Given the description of an element on the screen output the (x, y) to click on. 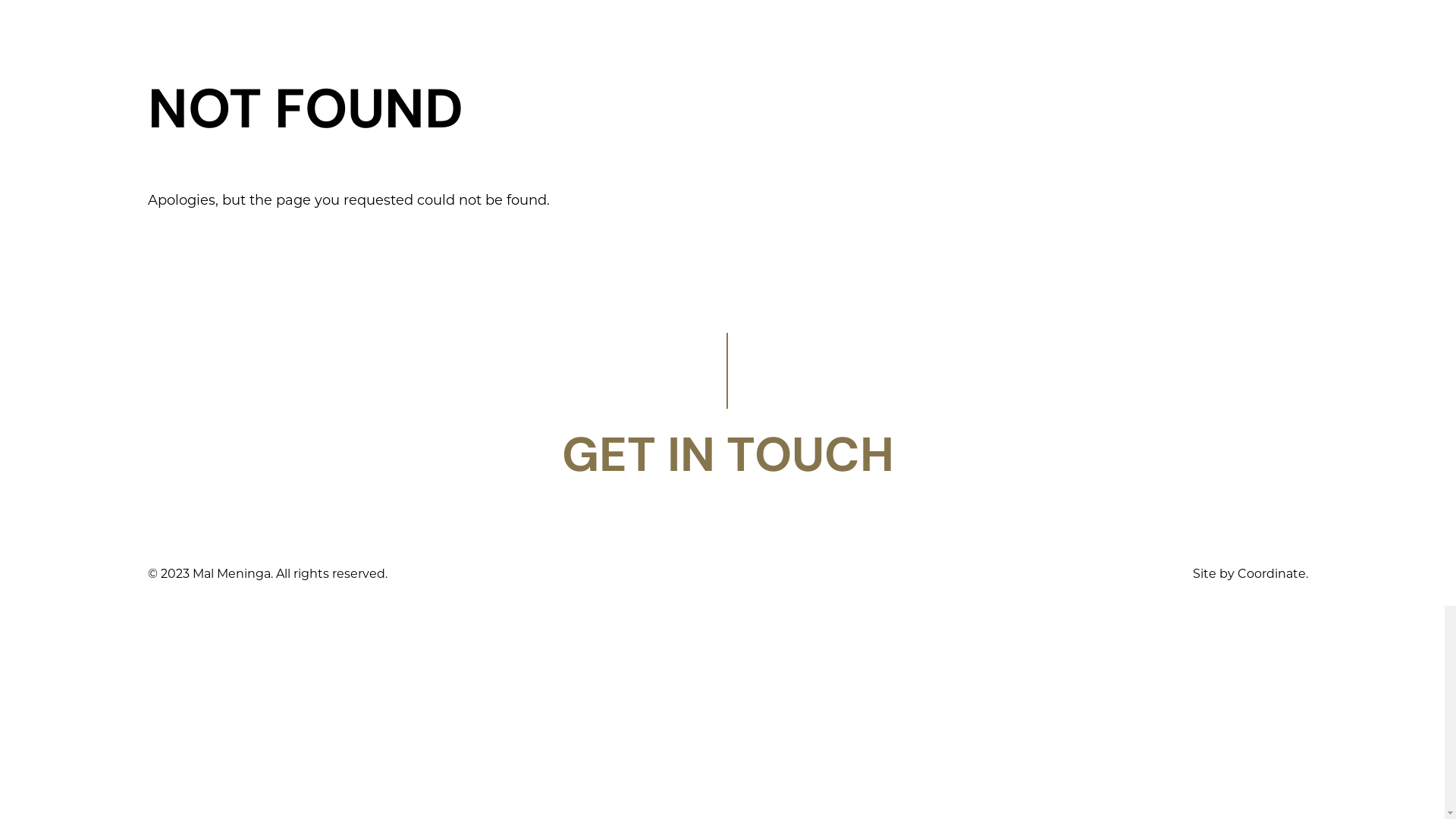
GET IN TOUCH Element type: text (727, 454)
Coordinate Element type: text (1271, 573)
MAL MENINGA Element type: text (730, 30)
